Given the description of an element on the screen output the (x, y) to click on. 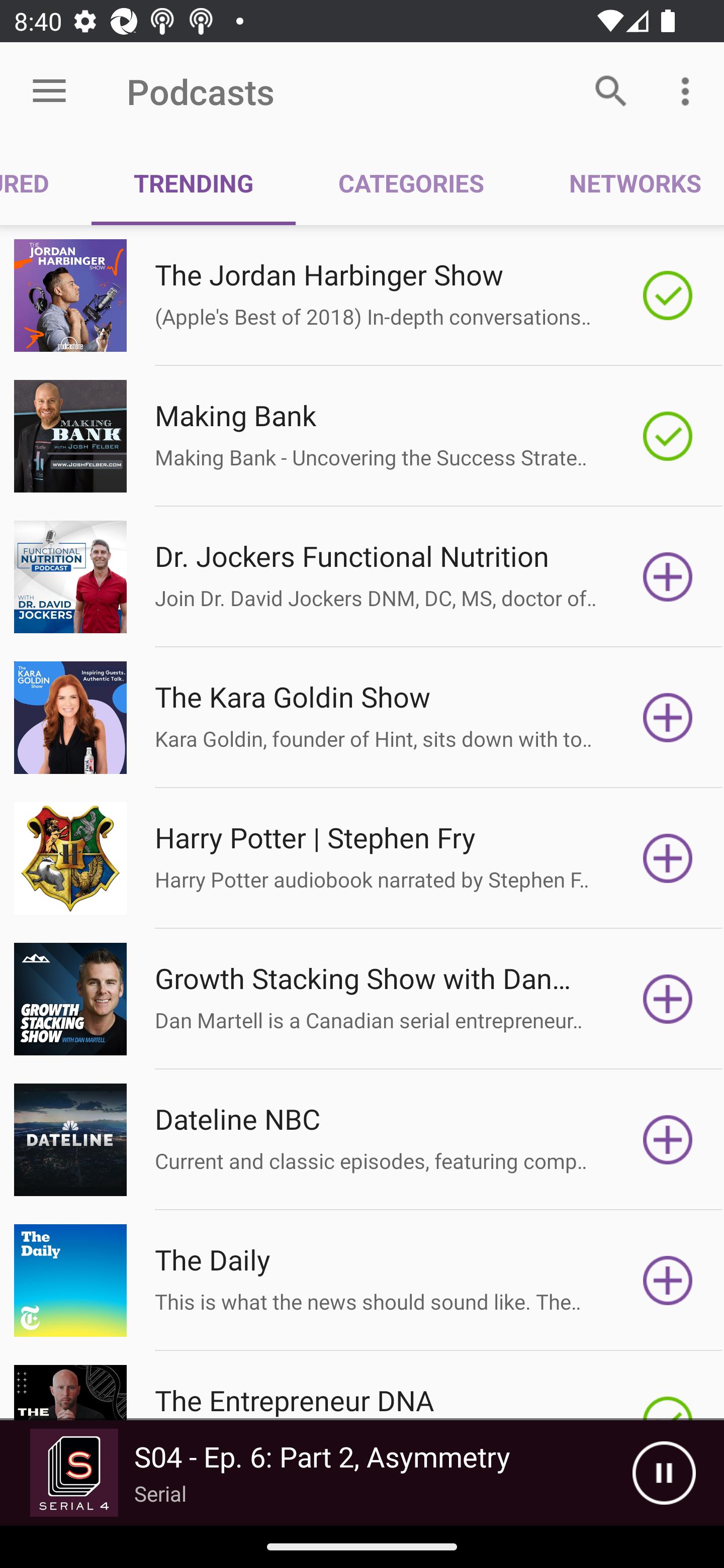
Open menu (49, 91)
Search (611, 90)
More options (688, 90)
TRENDING (193, 183)
CATEGORIES (410, 183)
NETWORKS (625, 183)
Subscribed (667, 295)
Subscribed (667, 435)
Subscribe (667, 576)
Subscribe (667, 717)
Subscribe (667, 858)
Subscribe (667, 998)
Subscribe (667, 1139)
Subscribe (667, 1280)
Picture S04 - Ep. 6: Part 2, Asymmetry Serial (316, 1472)
Pause (663, 1472)
